Given the description of an element on the screen output the (x, y) to click on. 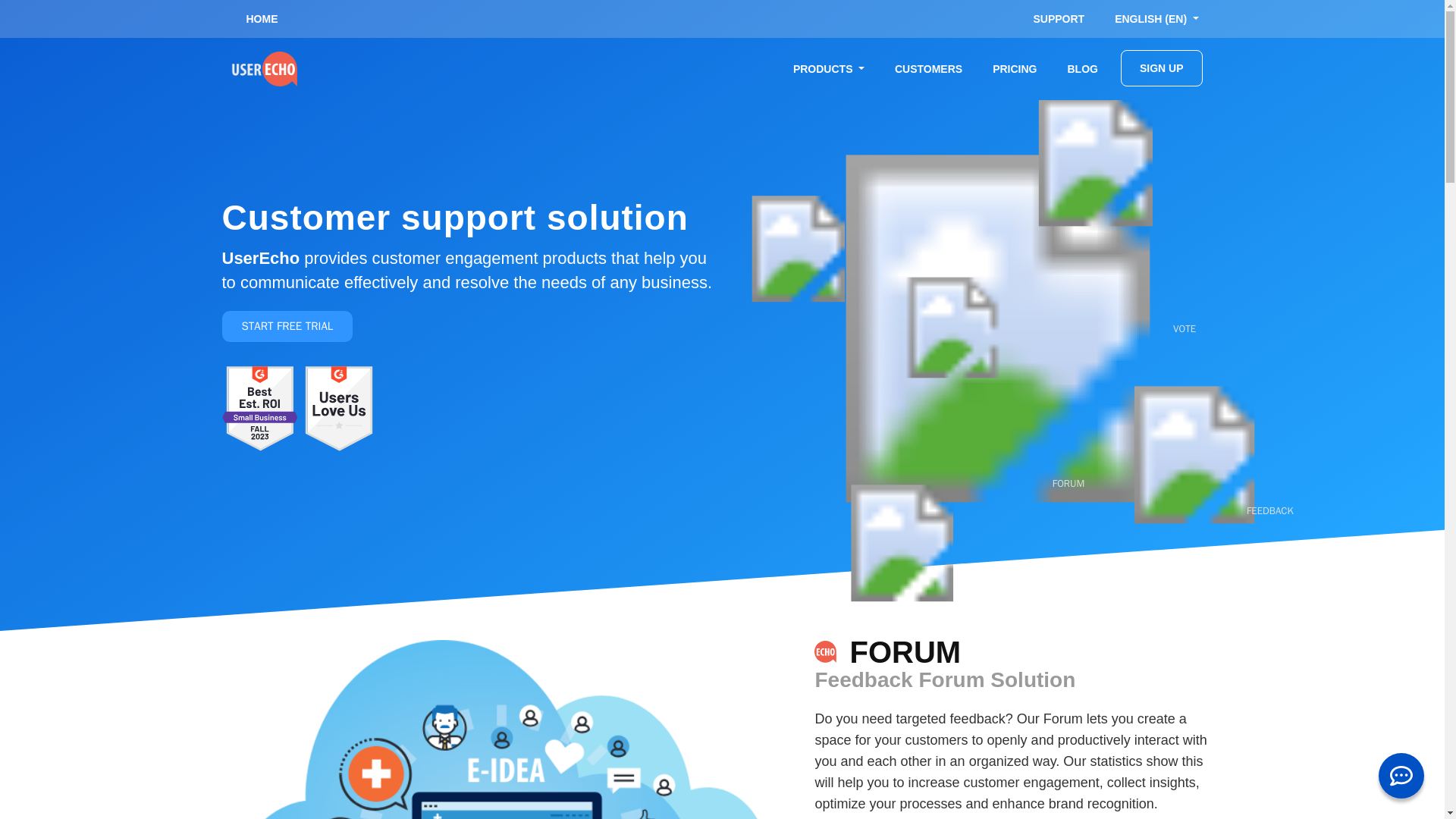
PRODUCTS (828, 68)
PRICING (1013, 68)
CUSTOMERS (927, 68)
SUPPORT (1058, 18)
START FREE TRIAL (286, 326)
UserEcho is a leader in Small-Business Help Desk on G2 (259, 407)
Users love UserEcho on G2 (339, 407)
SIGN UP (1161, 67)
HOME (261, 18)
BLOG (1081, 68)
